Given the description of an element on the screen output the (x, y) to click on. 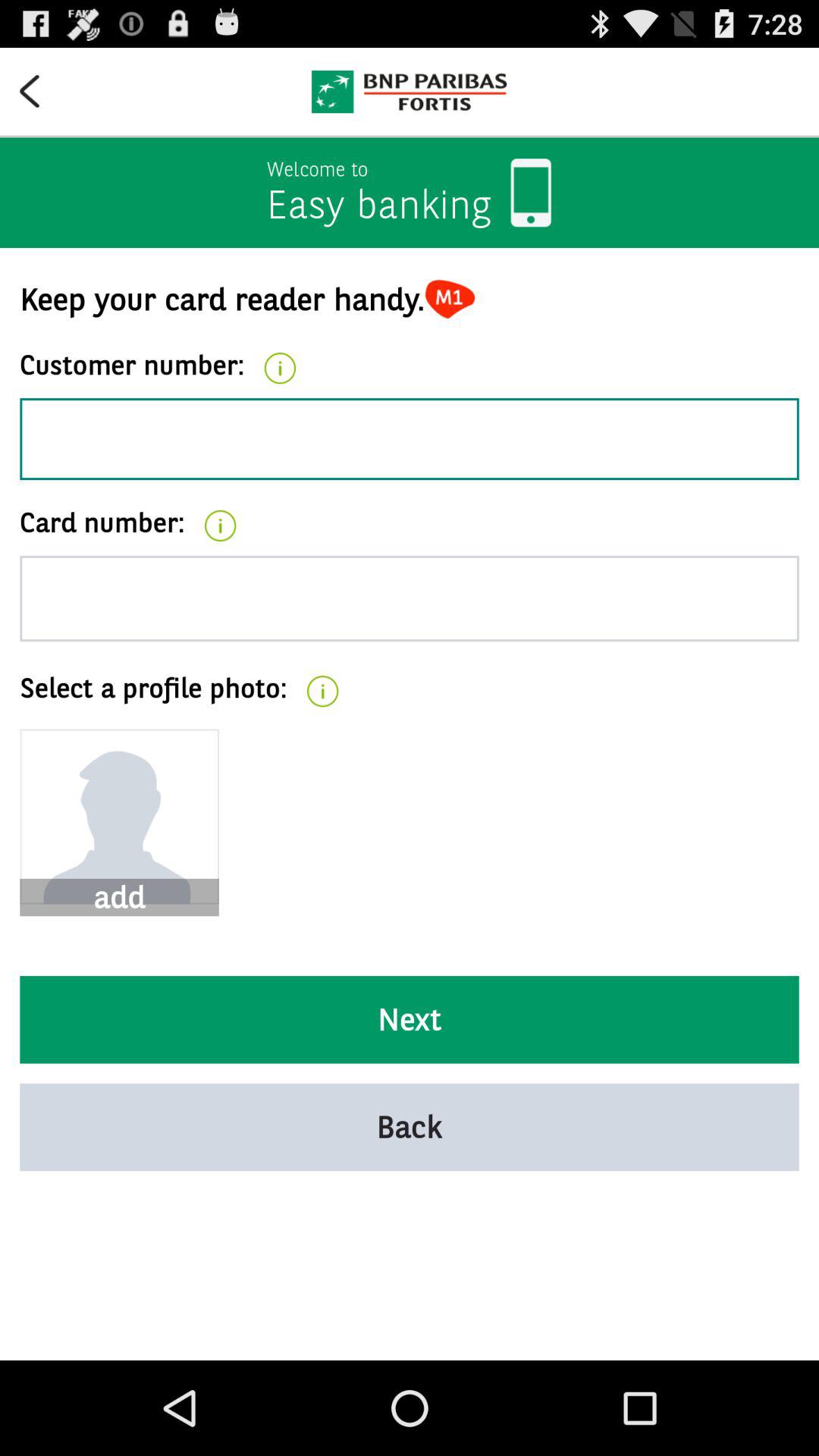
launch icon above back icon (409, 1019)
